Given the description of an element on the screen output the (x, y) to click on. 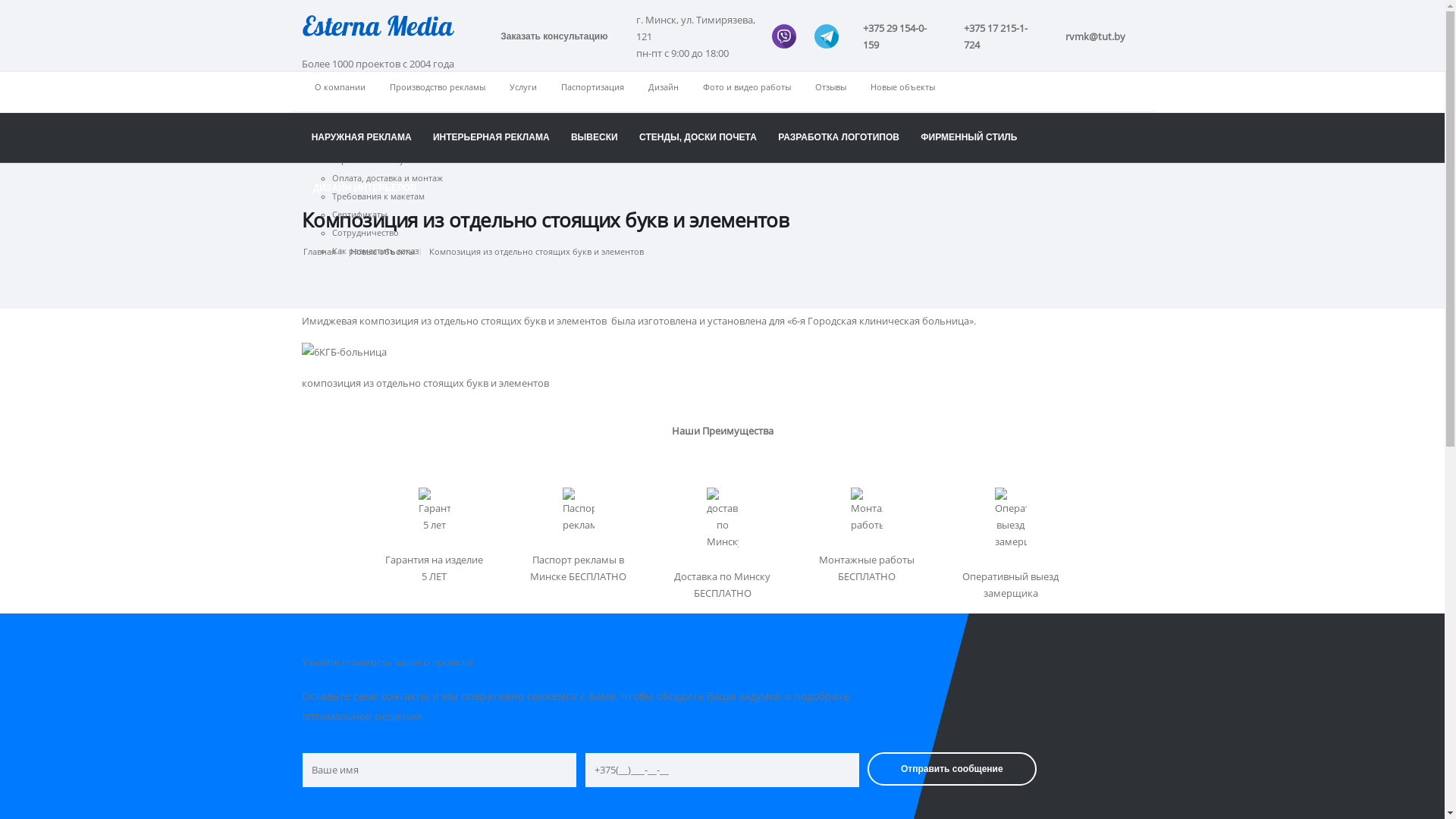
Instragram Element type: hover (1087, 175)
+375 29 154-0-159 Element type: text (900, 36)
+375 17 215-1-724 Element type: text (1001, 36)
Facebook Element type: hover (1087, 149)
rvmk@tut.by Element type: text (1094, 35)
Vk Element type: hover (1112, 149)
